Given the description of an element on the screen output the (x, y) to click on. 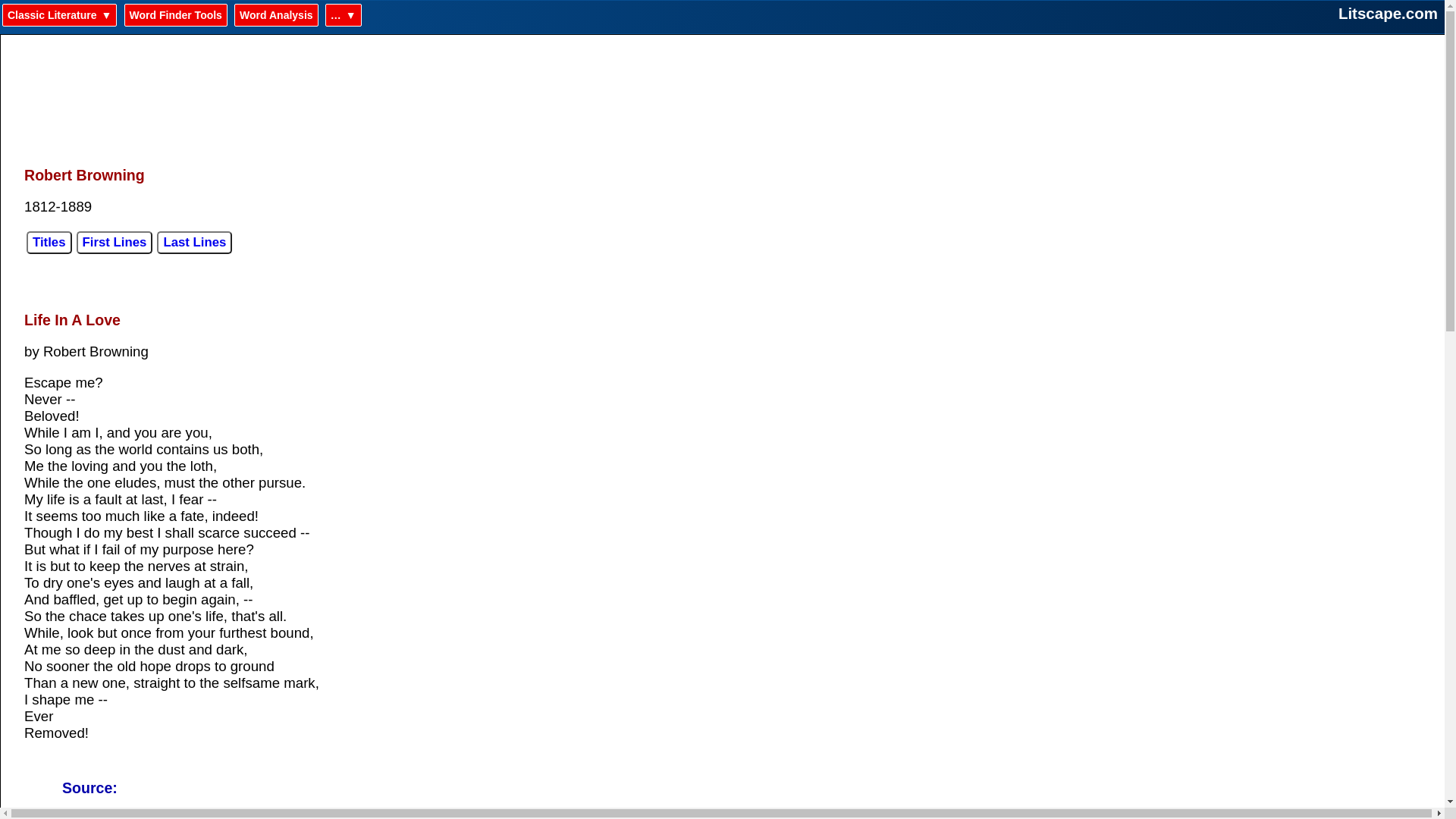
Word Analysis (275, 15)
Litscape.com (1388, 13)
Word Finder Tools (175, 15)
